Given the description of an element on the screen output the (x, y) to click on. 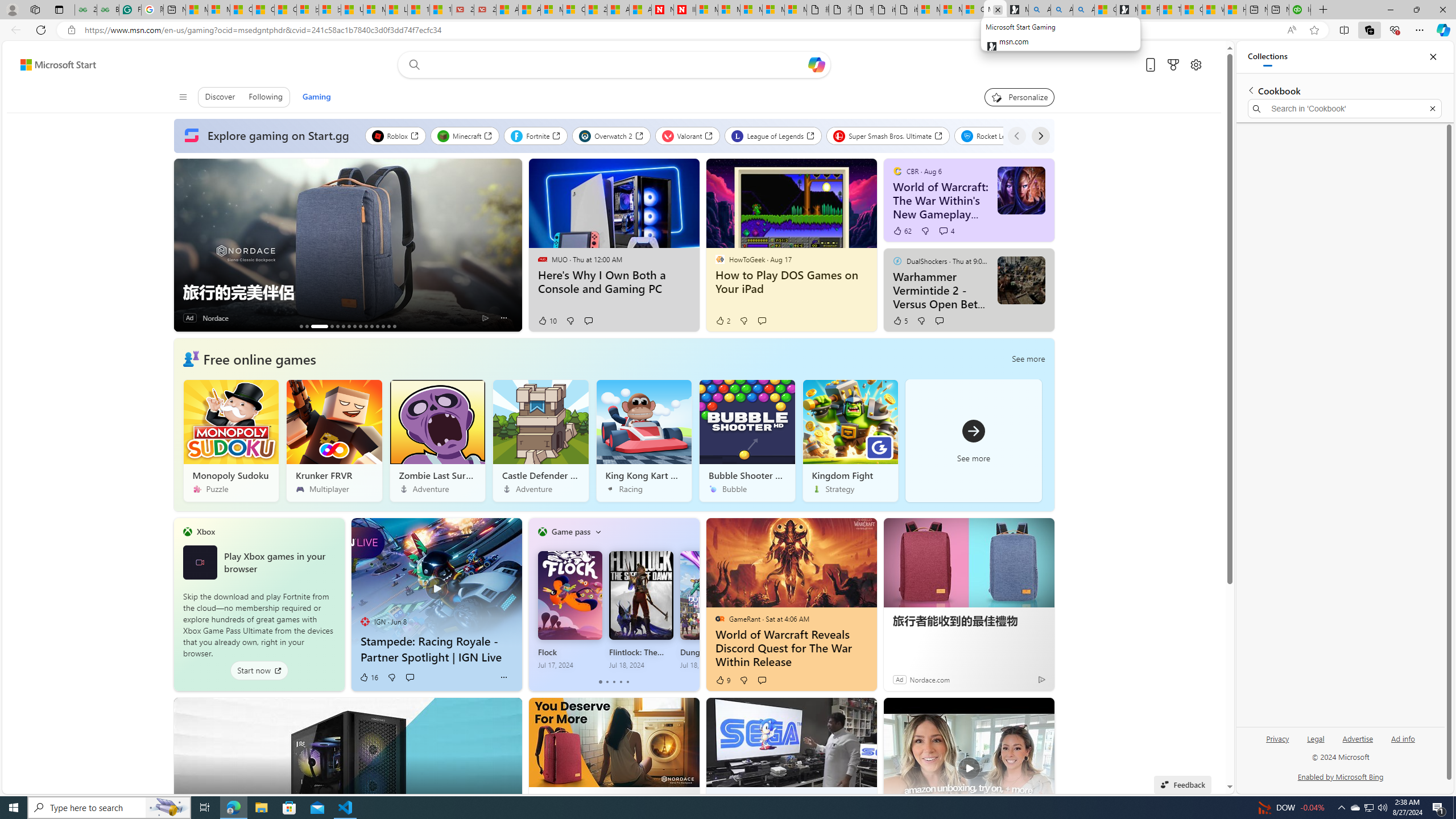
Starfield: How To Use Your Spaceship (377, 326)
9 Like (722, 680)
CYGNI: All Guns Blazing | Official Launch Trailer (331, 326)
Lifestyle - MSN (396, 9)
League of Legends (773, 135)
Rocket League (996, 135)
